Given the description of an element on the screen output the (x, y) to click on. 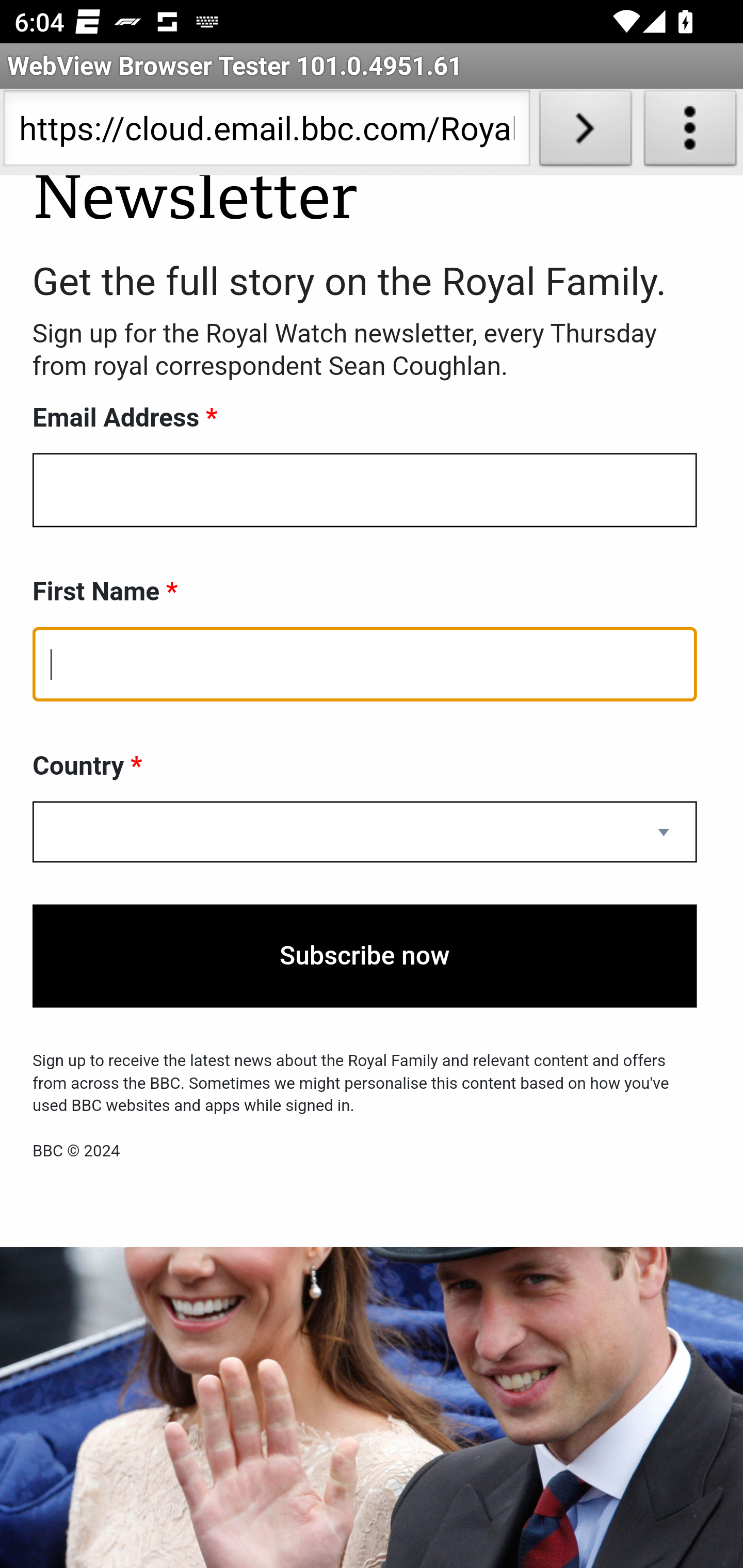
Load URL (585, 132)
About WebView (690, 132)
Subscribe now (364, 956)
